Given the description of an element on the screen output the (x, y) to click on. 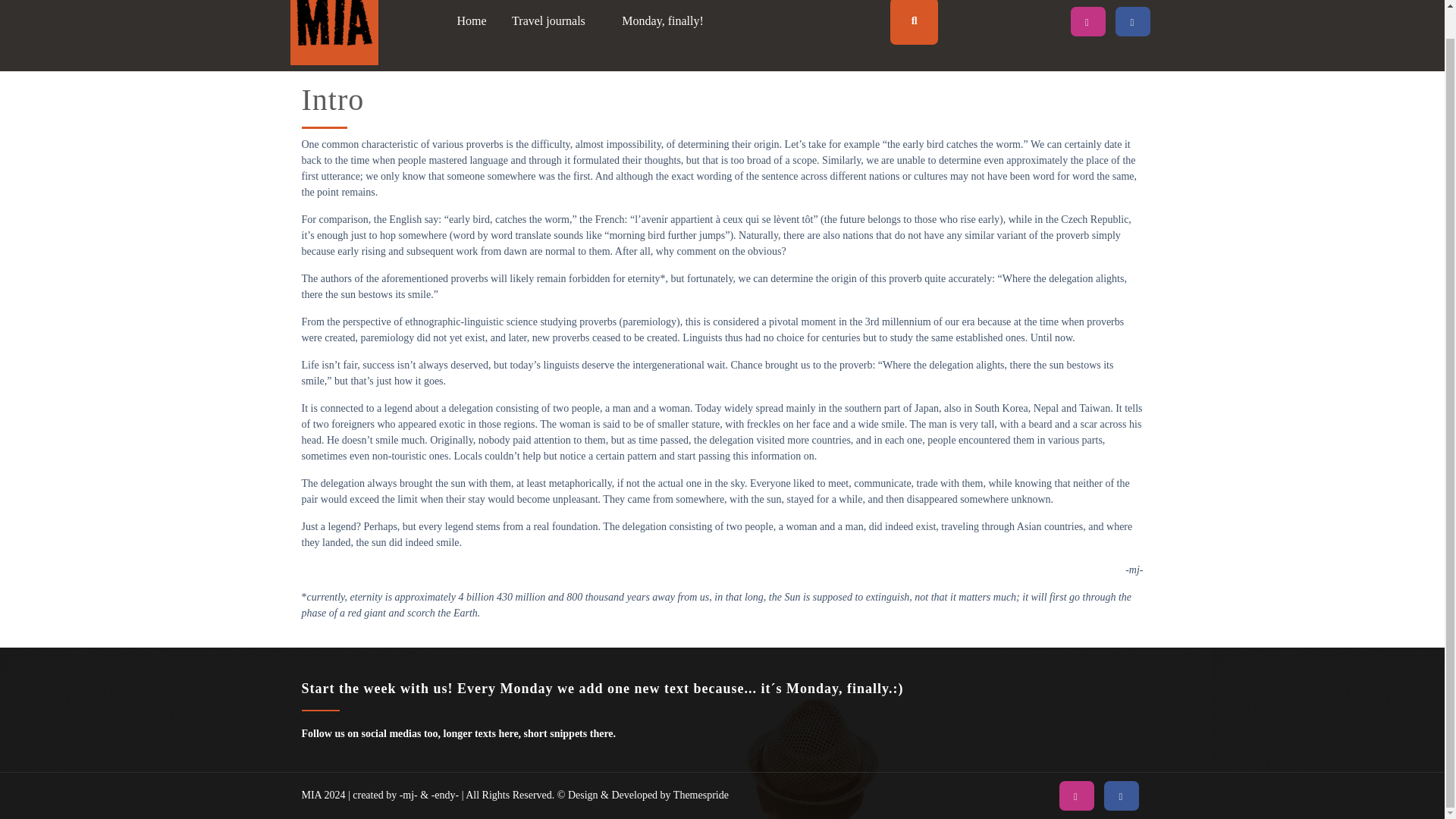
Monday, finally! (662, 21)
Travel journals (554, 21)
Home (471, 21)
Themespride (700, 794)
